Given the description of an element on the screen output the (x, y) to click on. 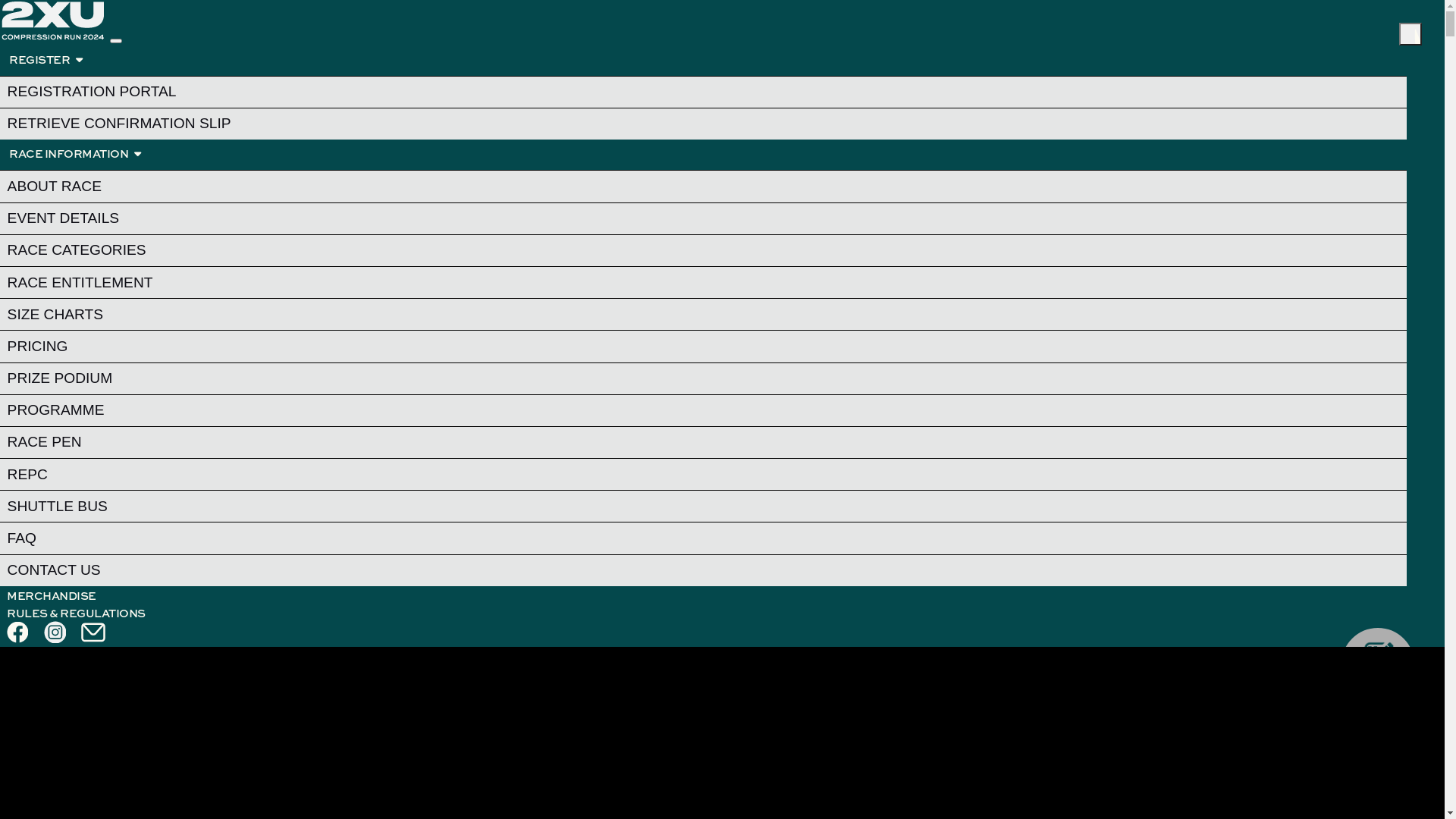
SIZE CHARTS Element type: text (703, 313)
SHUTTLE BUS Element type: text (703, 505)
RACE PEN Element type: text (703, 442)
REPC Element type: text (703, 473)
ABOUT RACE Element type: text (703, 185)
REGISTER   Element type: text (45, 59)
EVENT DETAILS Element type: text (703, 218)
RULES & REGULATIONS Element type: text (76, 613)
RACE ENTITLEMENT Element type: text (703, 282)
PROGRAMME Element type: text (703, 410)
REGISTRATION PORTAL Element type: text (703, 90)
RACE INFORMATION   Element type: text (74, 154)
MERCHANDISE Element type: text (51, 596)
PRIZE PODIUM Element type: text (703, 377)
RETRIEVE CONFIRMATION SLIP Element type: text (703, 123)
PRICING Element type: text (703, 345)
RACE CATEGORIES Element type: text (703, 250)
FAQ Element type: text (703, 537)
CONTACT US Element type: text (703, 570)
